Given the description of an element on the screen output the (x, y) to click on. 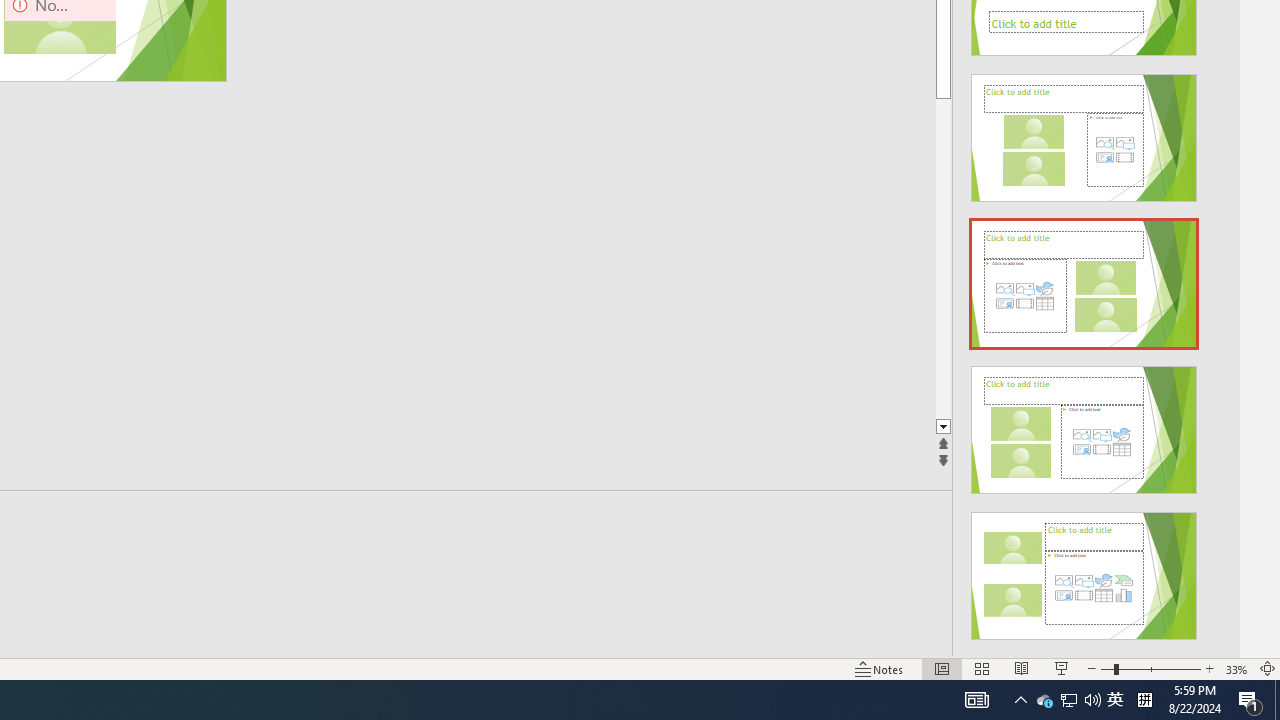
Design Idea (1083, 569)
Zoom 33% (1236, 668)
